Given the description of an element on the screen output the (x, y) to click on. 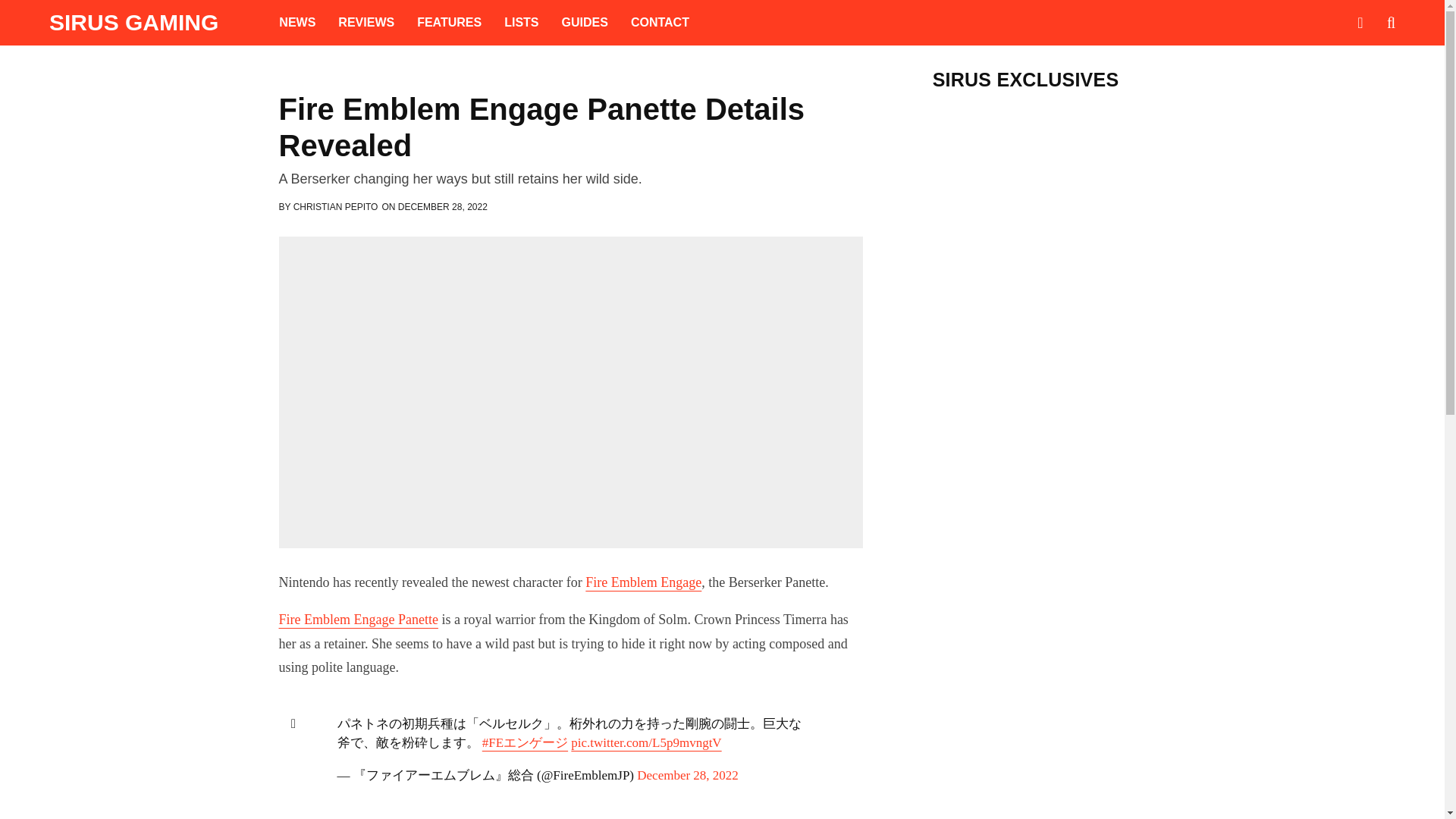
CONTACT (660, 22)
FEATURES (449, 22)
Fire Emblem Engage Panette (358, 619)
NEWS (296, 22)
SIRUS GAMING (133, 22)
REVIEWS (366, 22)
Fire Emblem Engage (643, 581)
LISTS (521, 22)
BY CHRISTIAN PEPITO (328, 206)
December 28, 2022 (687, 774)
GUIDES (585, 22)
